Given the description of an element on the screen output the (x, y) to click on. 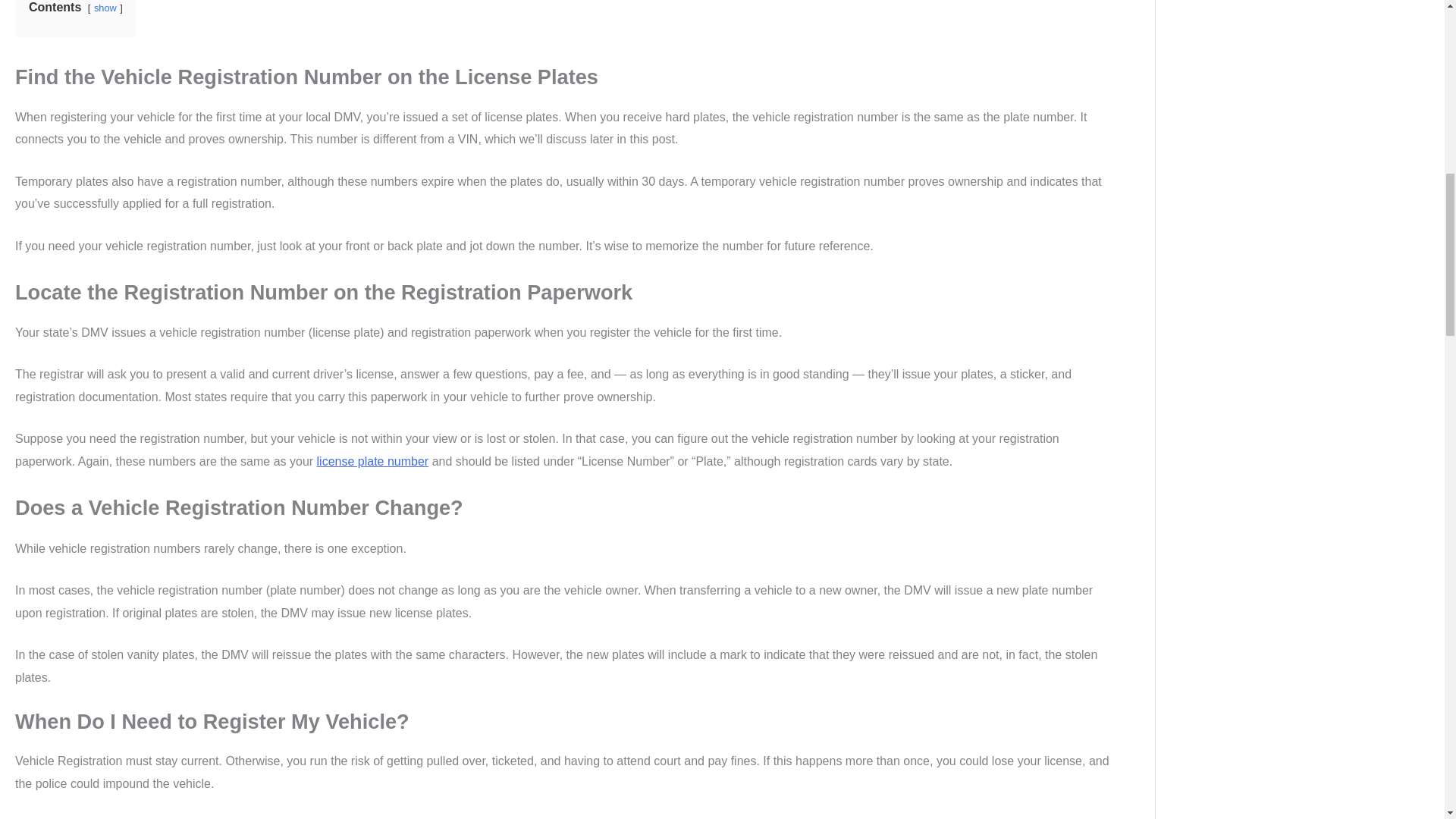
license plate number (373, 461)
show (105, 7)
